Given the description of an element on the screen output the (x, y) to click on. 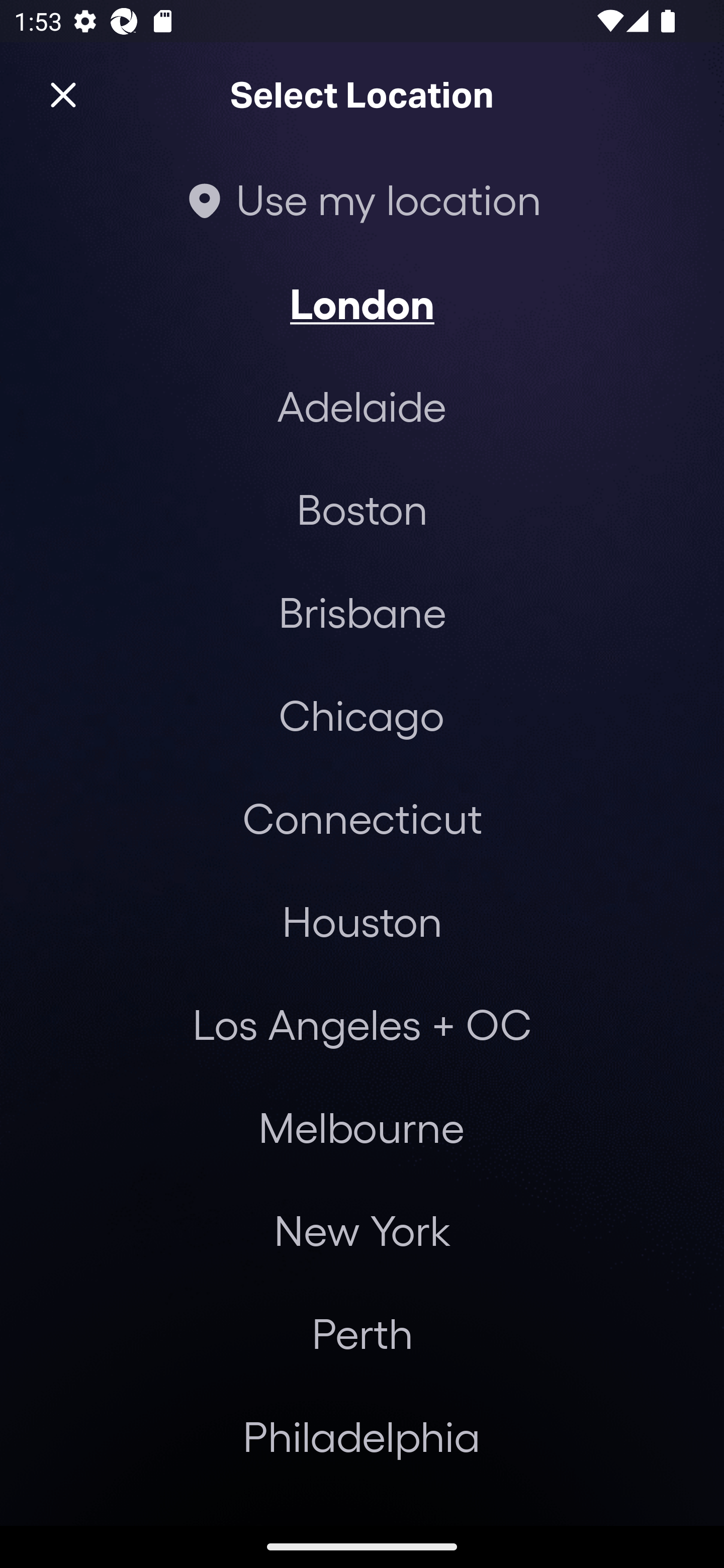
Close (62, 95)
   Use my location (362, 198)
London (361, 302)
Adelaide (361, 405)
Boston (361, 508)
Brisbane (361, 611)
Chicago (361, 714)
Connecticut (361, 817)
Houston (361, 920)
Los Angeles + OC (361, 1023)
Melbourne (361, 1127)
New York (361, 1230)
Perth (361, 1332)
Philadelphia (361, 1436)
